Given the description of an element on the screen output the (x, y) to click on. 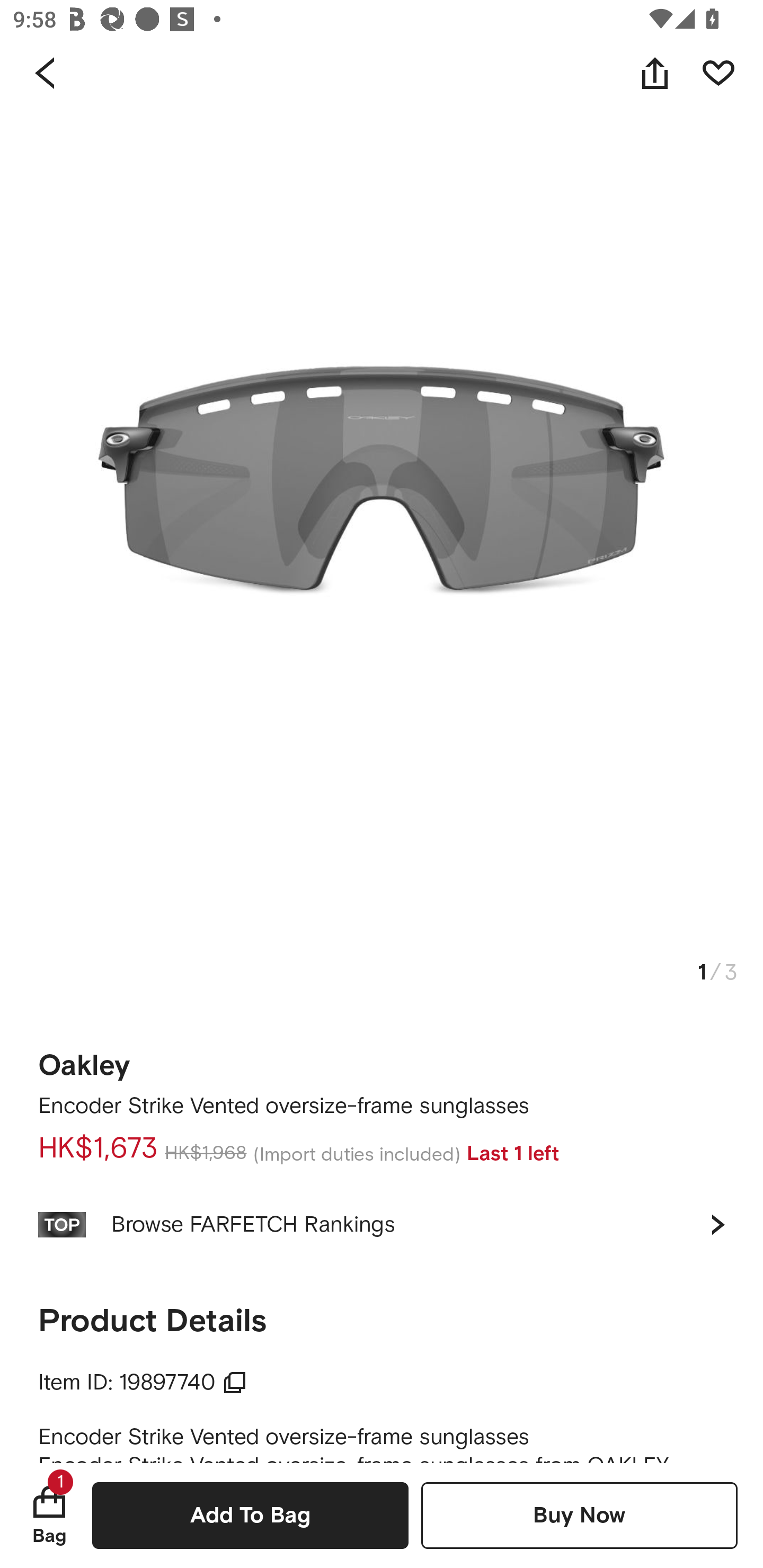
Oakley (83, 1059)
Browse FARFETCH Rankings (381, 1224)
Item ID: 19897740 (142, 1382)
Bag 1 (49, 1515)
Add To Bag (250, 1515)
Buy Now (579, 1515)
